Given the description of an element on the screen output the (x, y) to click on. 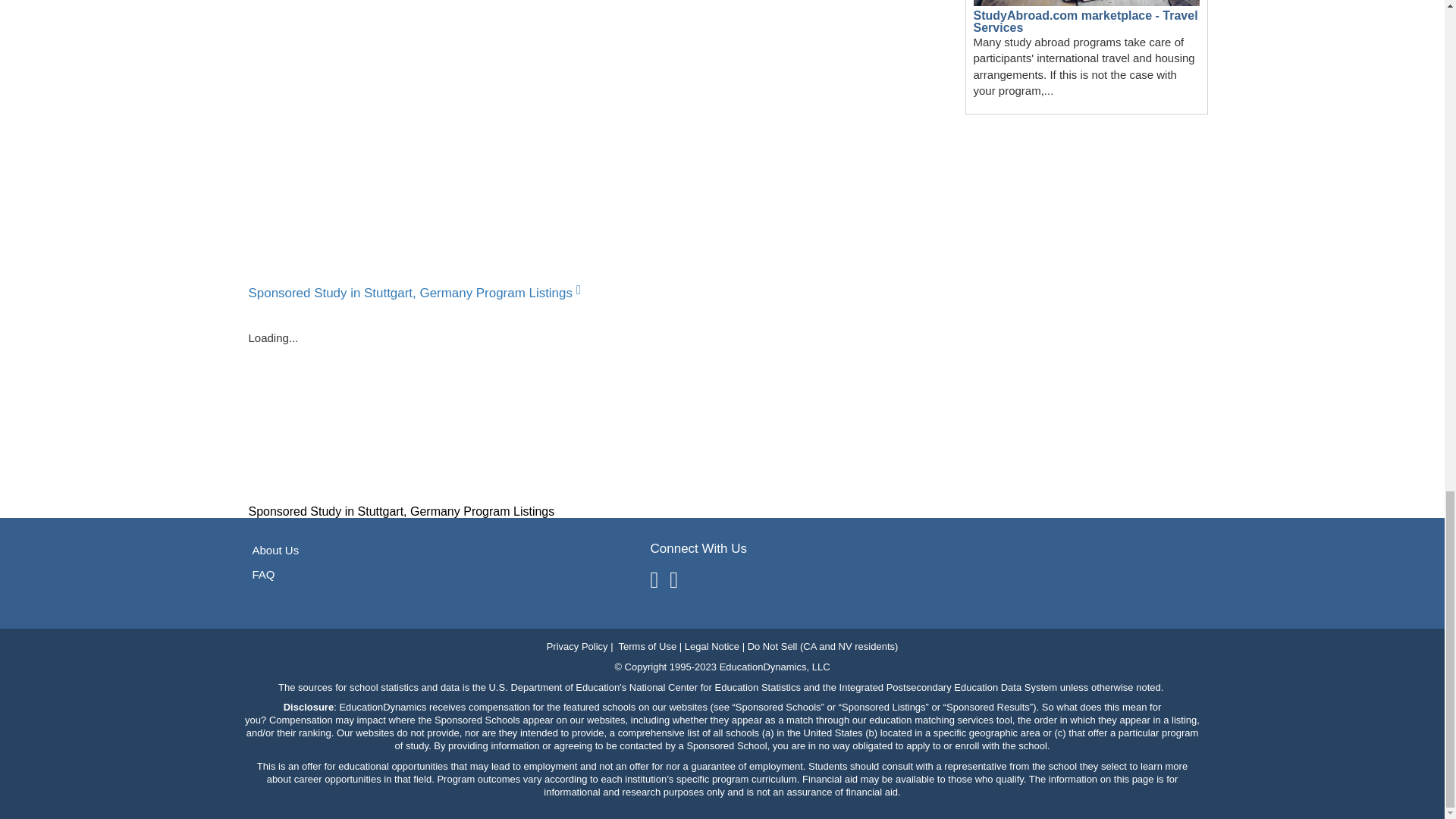
About Us (274, 549)
StudyAbroad.com marketplace - Travel Services (415, 283)
FAQ (1086, 21)
